Given the description of an element on the screen output the (x, y) to click on. 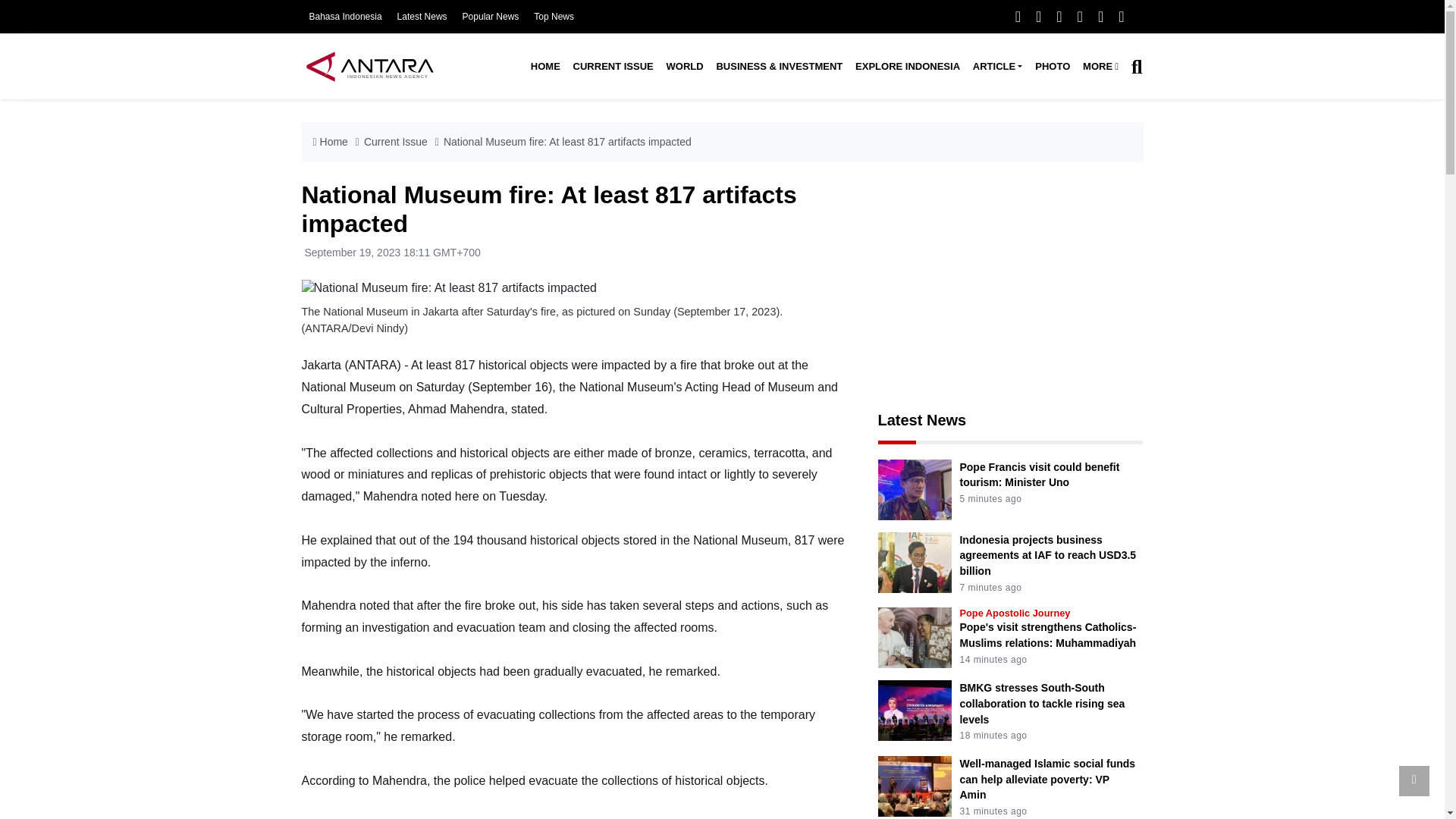
Latest News (421, 16)
EXPLORE INDONESIA (907, 66)
Article (996, 66)
Current Issue (612, 66)
Popular News (491, 16)
Explore Indonesia (907, 66)
ANTARA News (369, 66)
Popular News (491, 16)
Bahasa Indonesia (344, 16)
ARTICLE (996, 66)
